Given the description of an element on the screen output the (x, y) to click on. 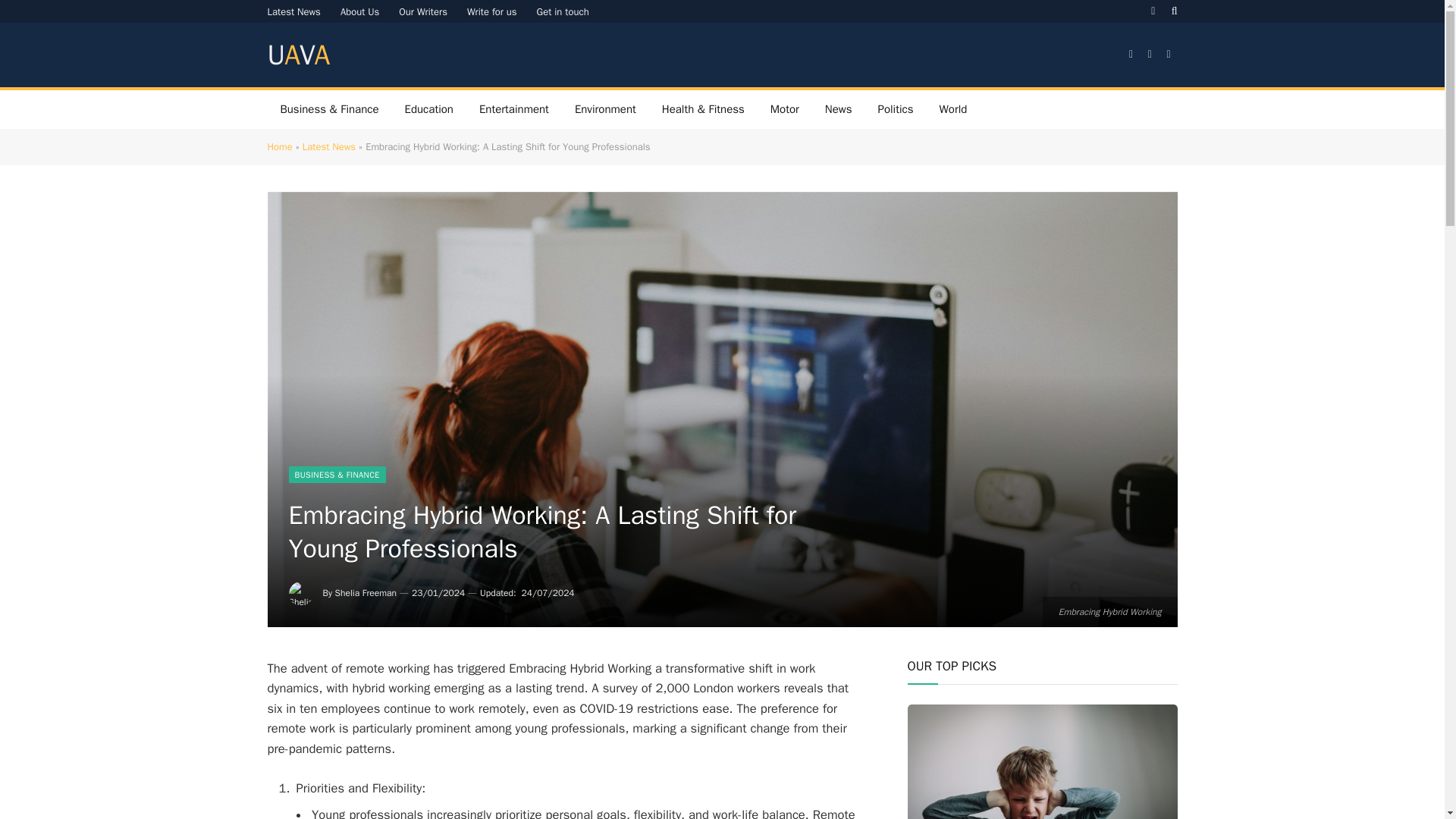
Shelia Freeman (365, 592)
Switch to Dark Design - easier on eyes. (1152, 10)
UAVA (297, 55)
About Us (359, 11)
Write for us (297, 55)
Our Writers (492, 11)
World (422, 11)
Entertainment (952, 109)
